Given the description of an element on the screen output the (x, y) to click on. 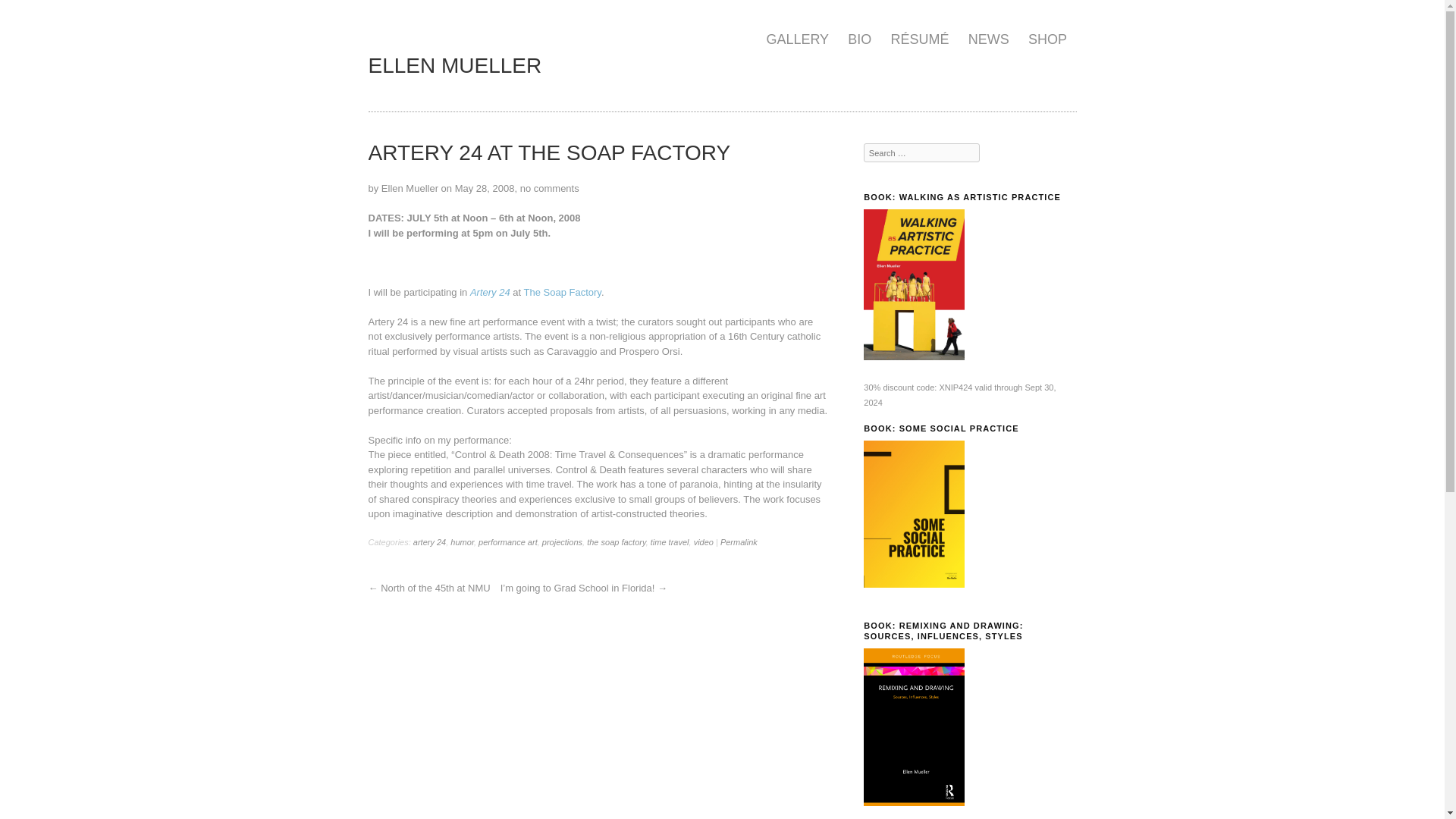
North of the 45th at NMU (440, 587)
Permalink (738, 542)
humor (461, 542)
The Soap Factory (560, 292)
Search (21, 8)
NEWS (987, 39)
projections (561, 542)
GALLERY (797, 39)
the soap factory (615, 542)
SHOP (1046, 39)
Artery 24 at The Soap Factory (549, 152)
ARTERY 24 AT THE SOAP FACTORY (549, 152)
ELLEN MUELLER (454, 65)
artery 24 (429, 542)
video (703, 542)
